Given the description of an element on the screen output the (x, y) to click on. 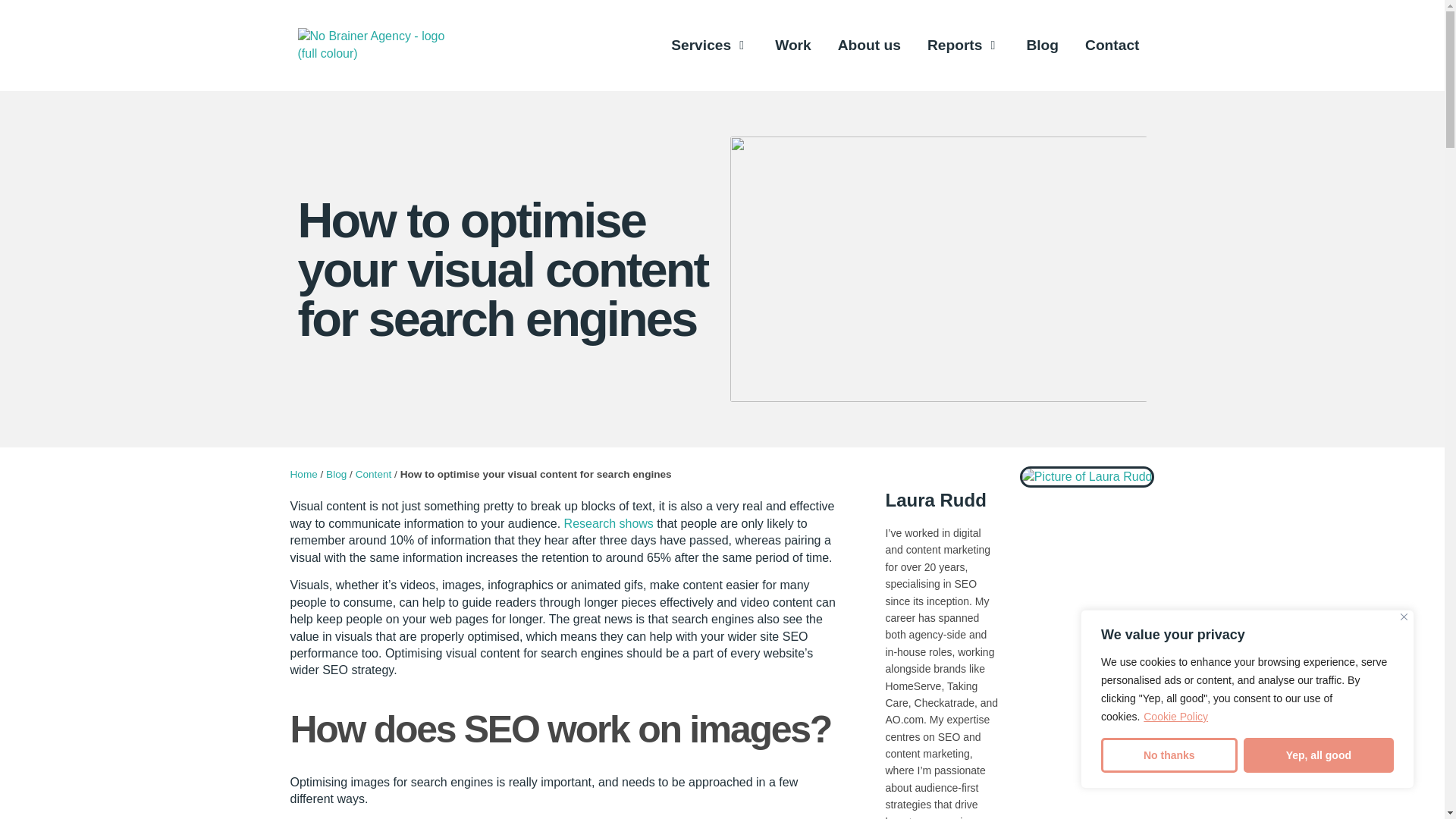
Contact (1111, 45)
Yep, all good (1318, 755)
Work (792, 45)
Home (303, 473)
No thanks (1168, 755)
Content (373, 473)
Reports (954, 45)
Blog (1042, 45)
Cookie Policy (1175, 716)
Blog (336, 473)
Research shows (608, 522)
About us (869, 45)
Services (700, 45)
